Given the description of an element on the screen output the (x, y) to click on. 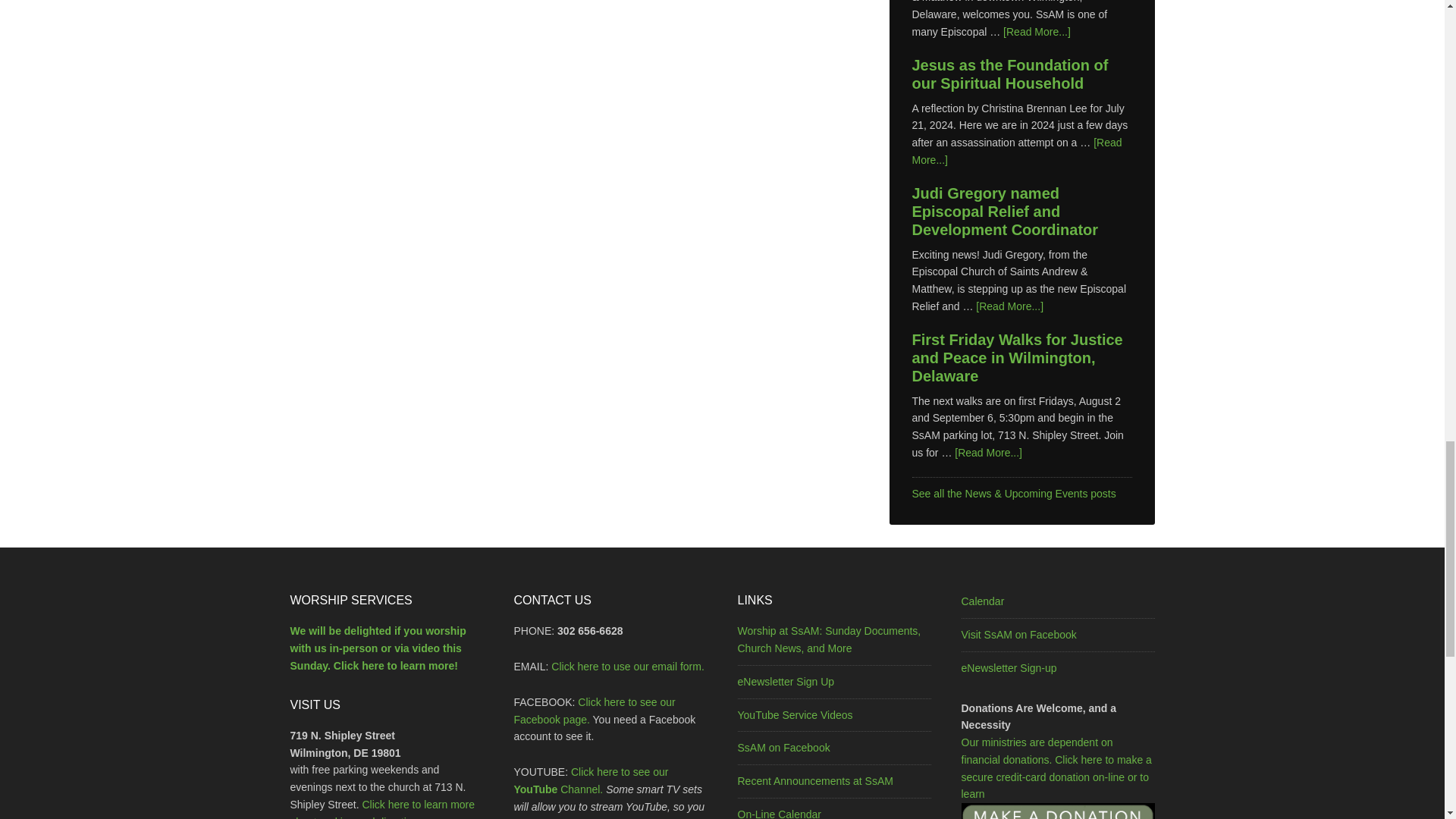
news (1013, 493)
